Given the description of an element on the screen output the (x, y) to click on. 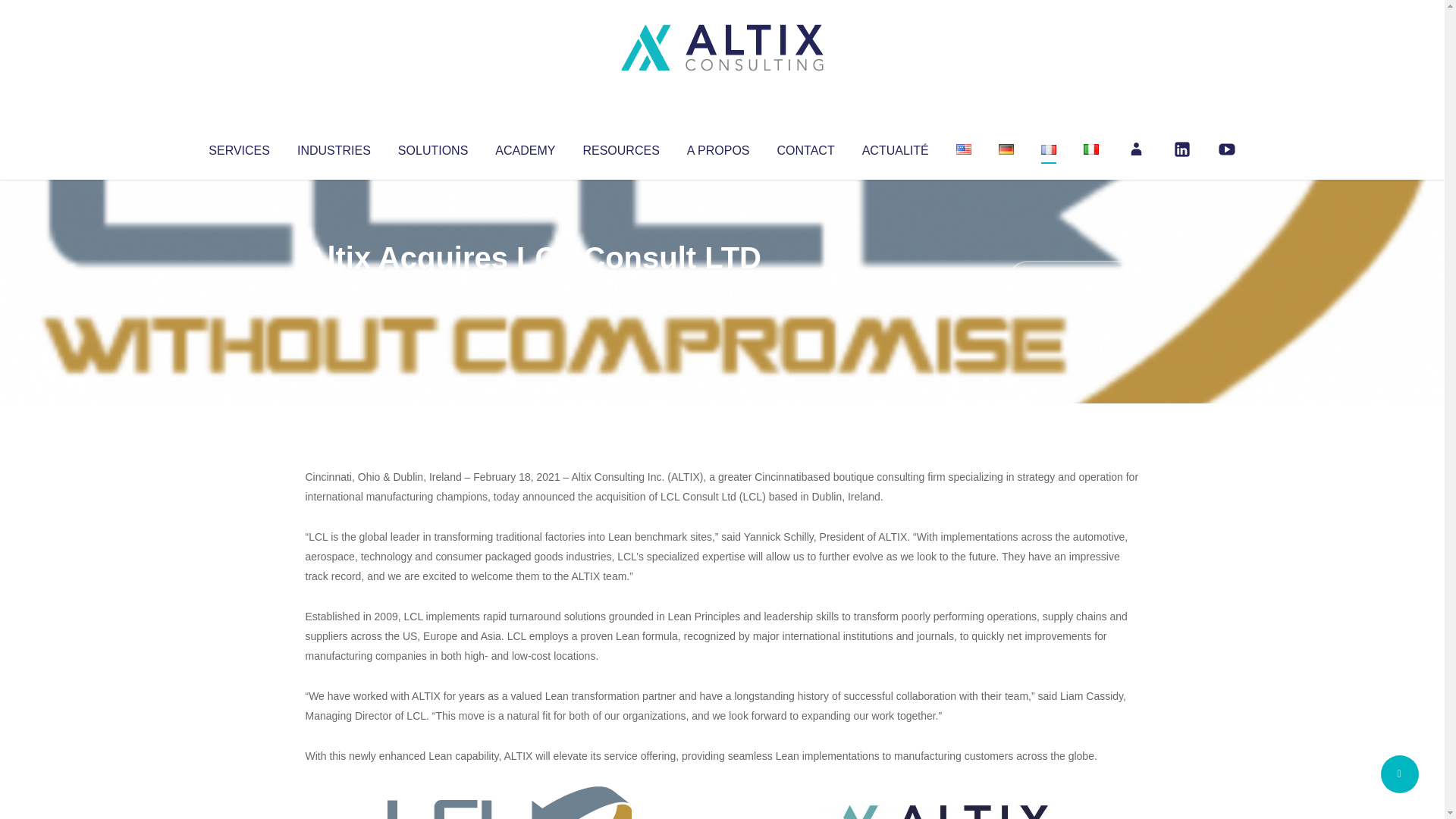
Uncategorized (530, 287)
ACADEMY (524, 146)
No Comments (1073, 278)
A PROPOS (718, 146)
RESOURCES (620, 146)
INDUSTRIES (334, 146)
Articles par Altix (333, 287)
SERVICES (238, 146)
SOLUTIONS (432, 146)
Altix (333, 287)
